Given the description of an element on the screen output the (x, y) to click on. 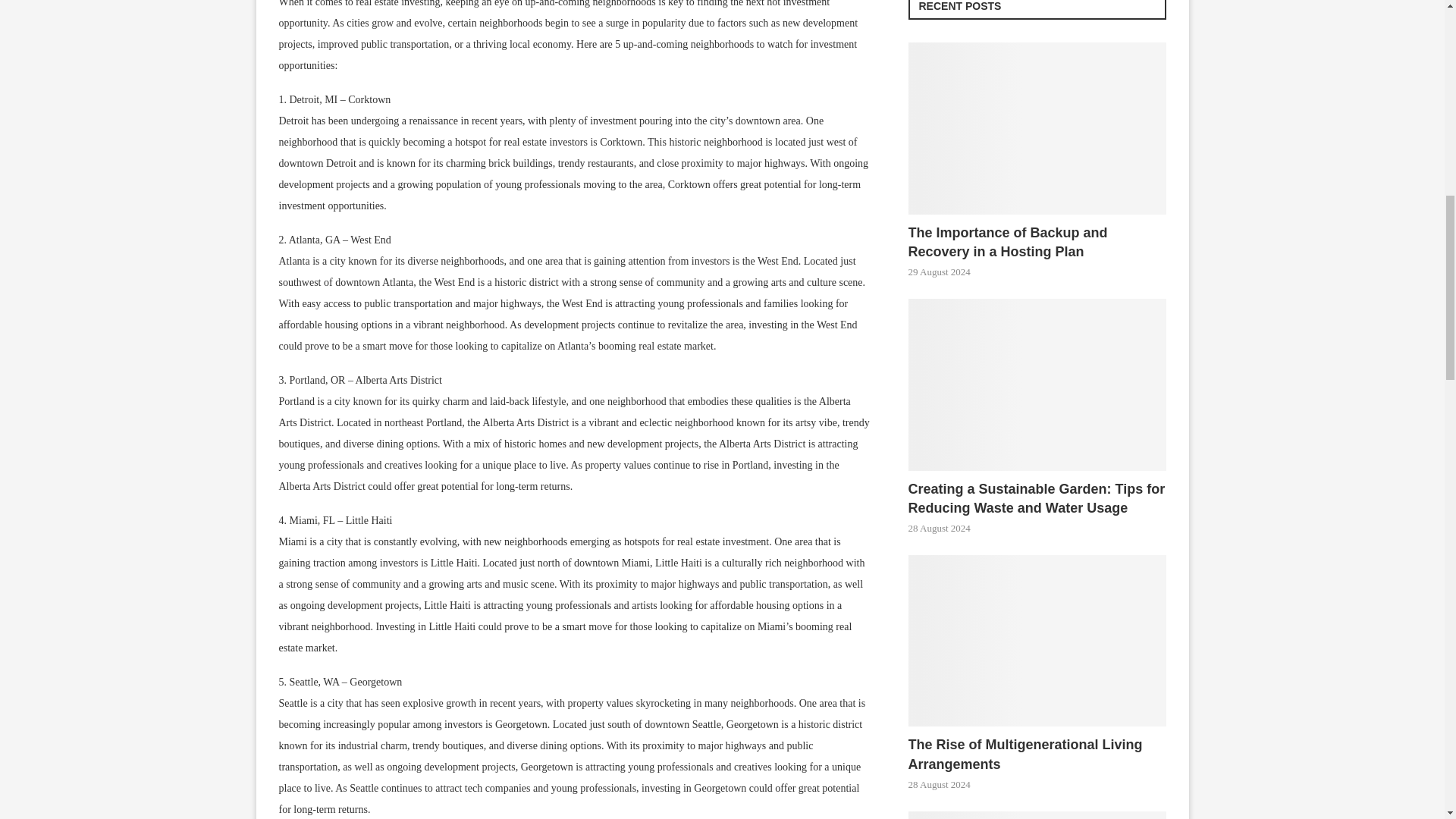
The Rise of Multigenerational Living Arrangements (1037, 641)
5 Delicious Smoothie Recipes for a Healthy Breakfast (1037, 815)
The Importance of Backup and Recovery in a Hosting Plan (1037, 242)
The Importance of Backup and Recovery in a Hosting Plan (1037, 128)
The Rise of Multigenerational Living Arrangements (1037, 754)
